Given the description of an element on the screen output the (x, y) to click on. 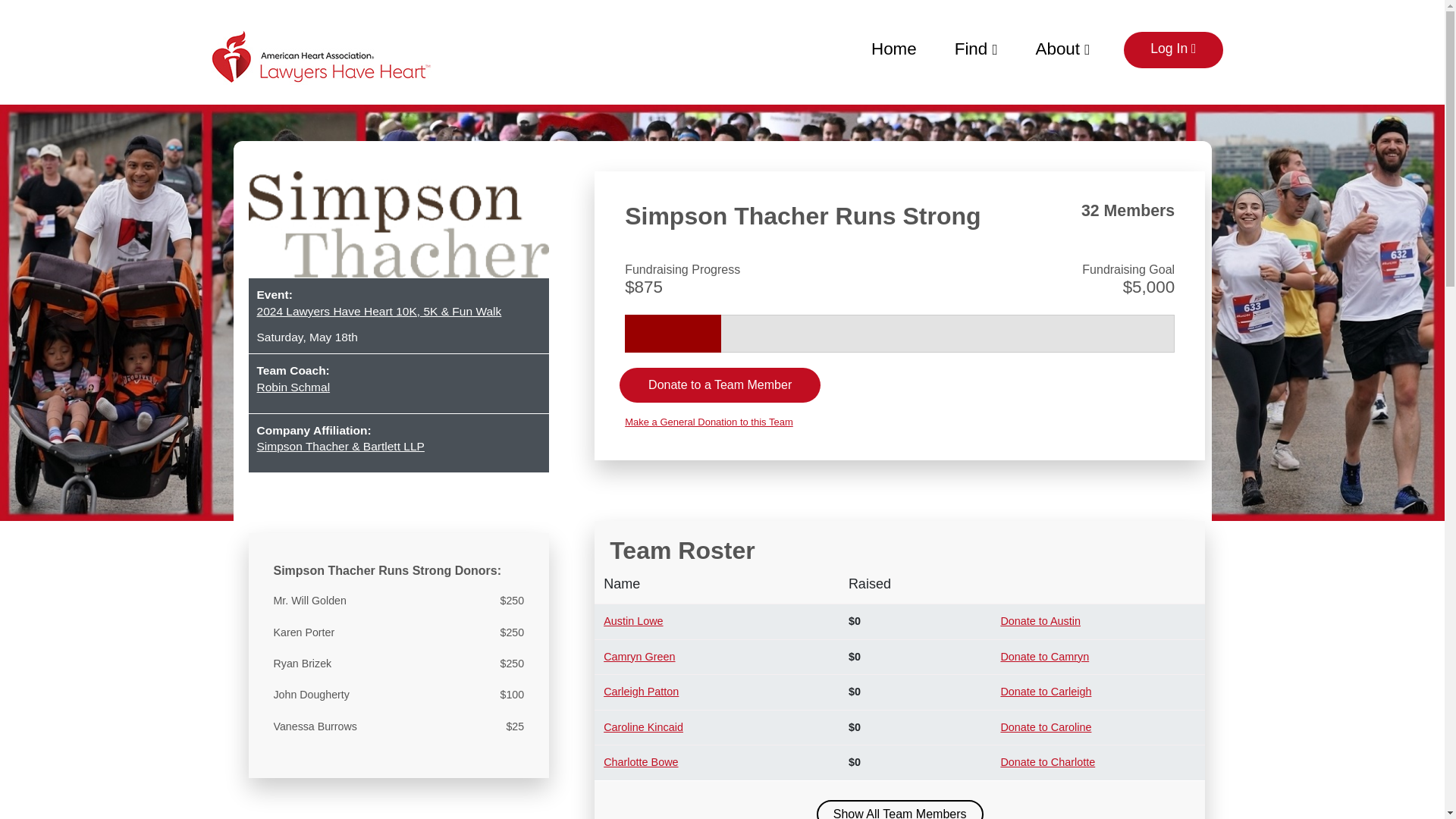
Donate to a Team Member (720, 384)
Austin Lowe (633, 621)
Charlotte Bowe (641, 761)
Return to event page (320, 56)
Donate to Carleigh (1045, 691)
Caroline Kincaid (643, 727)
Home (893, 46)
Carleigh Patton (641, 691)
Donate to Austin (1040, 621)
Donate to Charlotte (1047, 761)
Camryn Green (639, 656)
Find (976, 46)
Robin Schmal (398, 387)
About (1062, 46)
Make a General Donation to this Team (899, 421)
